Given the description of an element on the screen output the (x, y) to click on. 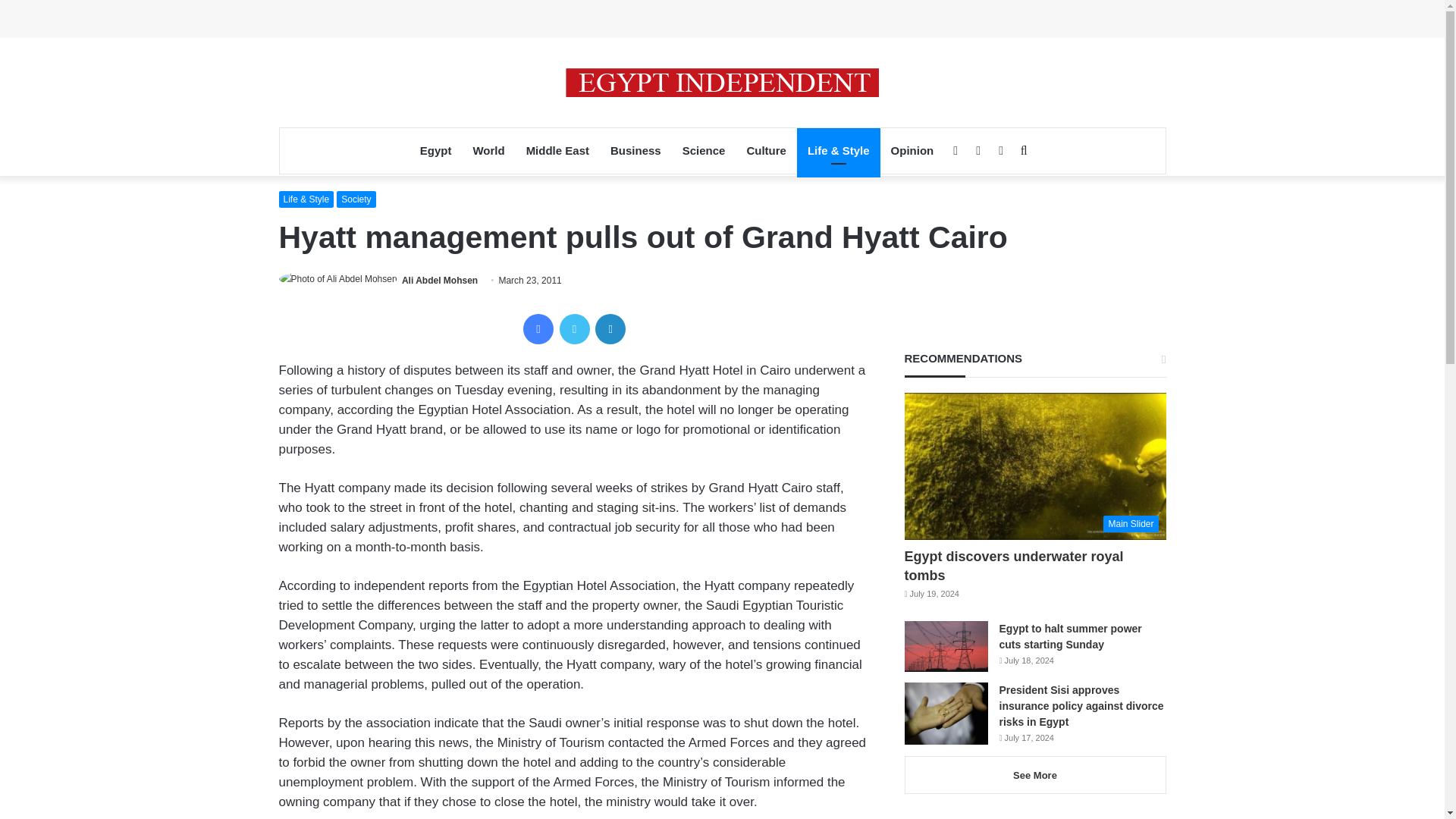
LinkedIn (610, 328)
Society (355, 199)
Opinion (912, 150)
Twitter (574, 328)
Facebook (537, 328)
World (488, 150)
Egypt Independent (722, 82)
Ali Abdel Mohsen (439, 280)
LinkedIn (610, 328)
Business (635, 150)
Culture (765, 150)
Egypt (436, 150)
Twitter (574, 328)
Ali Abdel Mohsen (439, 280)
Middle East (557, 150)
